Given the description of an element on the screen output the (x, y) to click on. 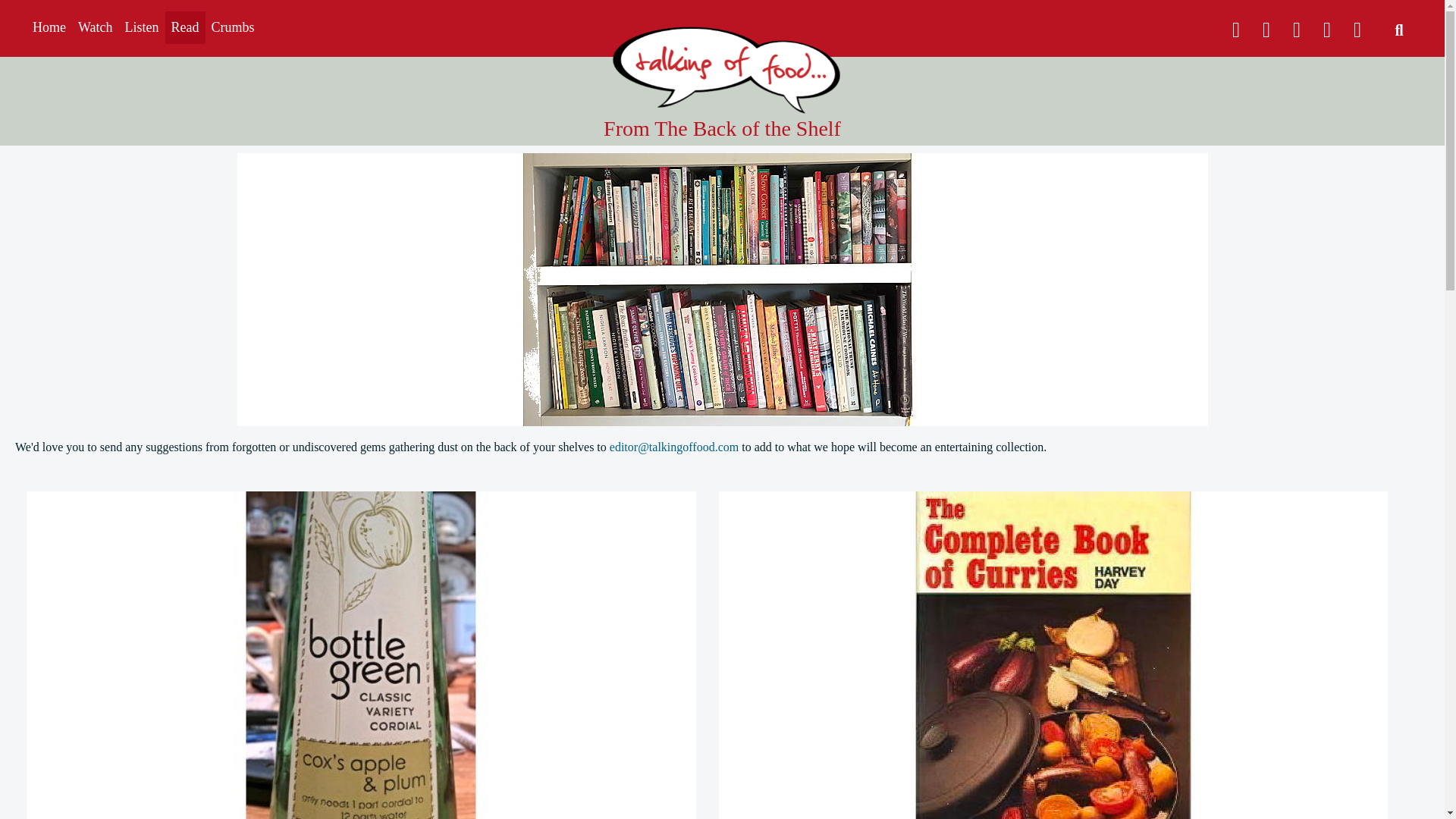
Watch (95, 27)
Home (48, 27)
Listen (142, 27)
Read (185, 27)
Crumbs (232, 27)
